Given the description of an element on the screen output the (x, y) to click on. 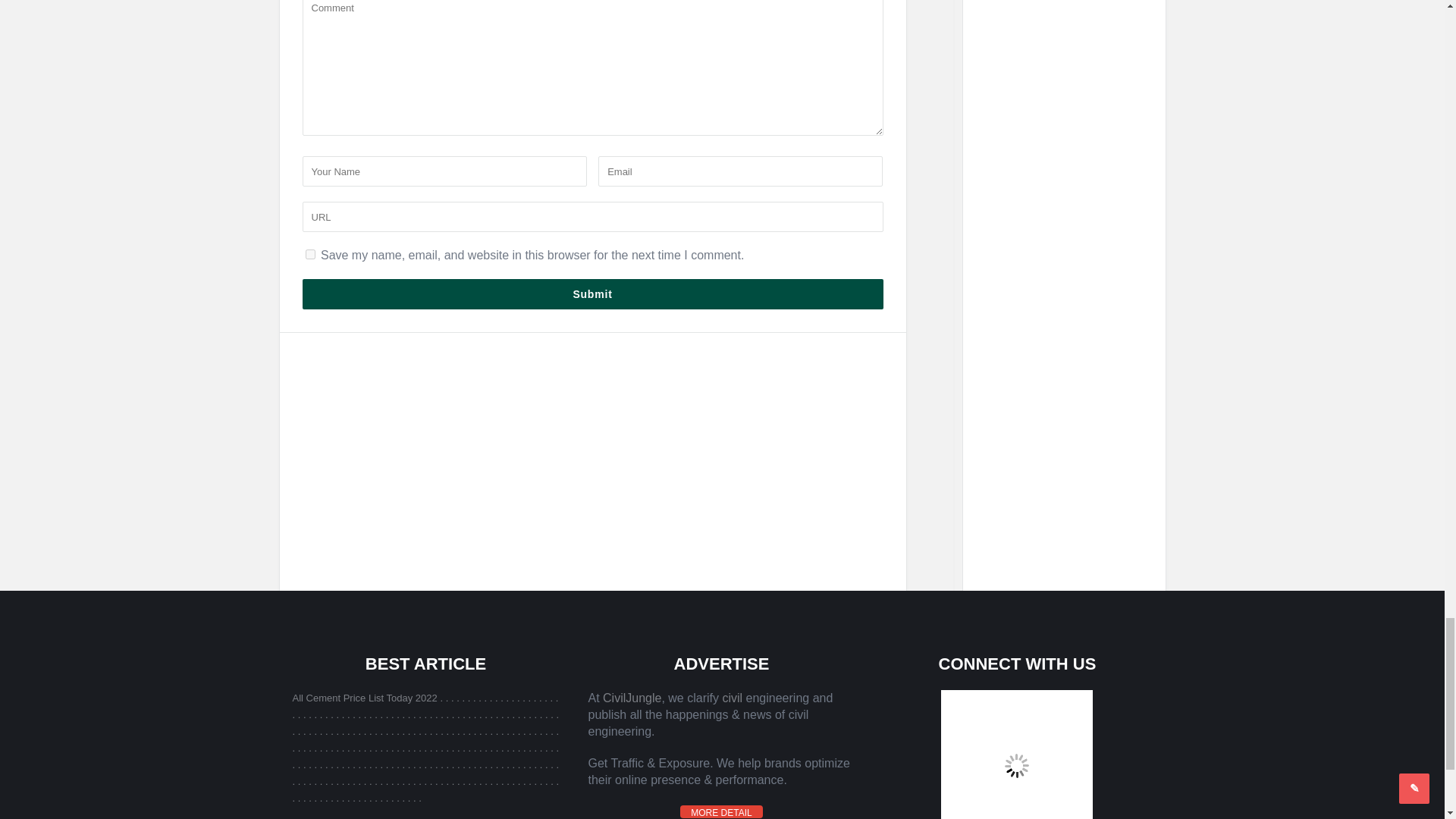
Submit (591, 294)
yes (309, 254)
